Given the description of an element on the screen output the (x, y) to click on. 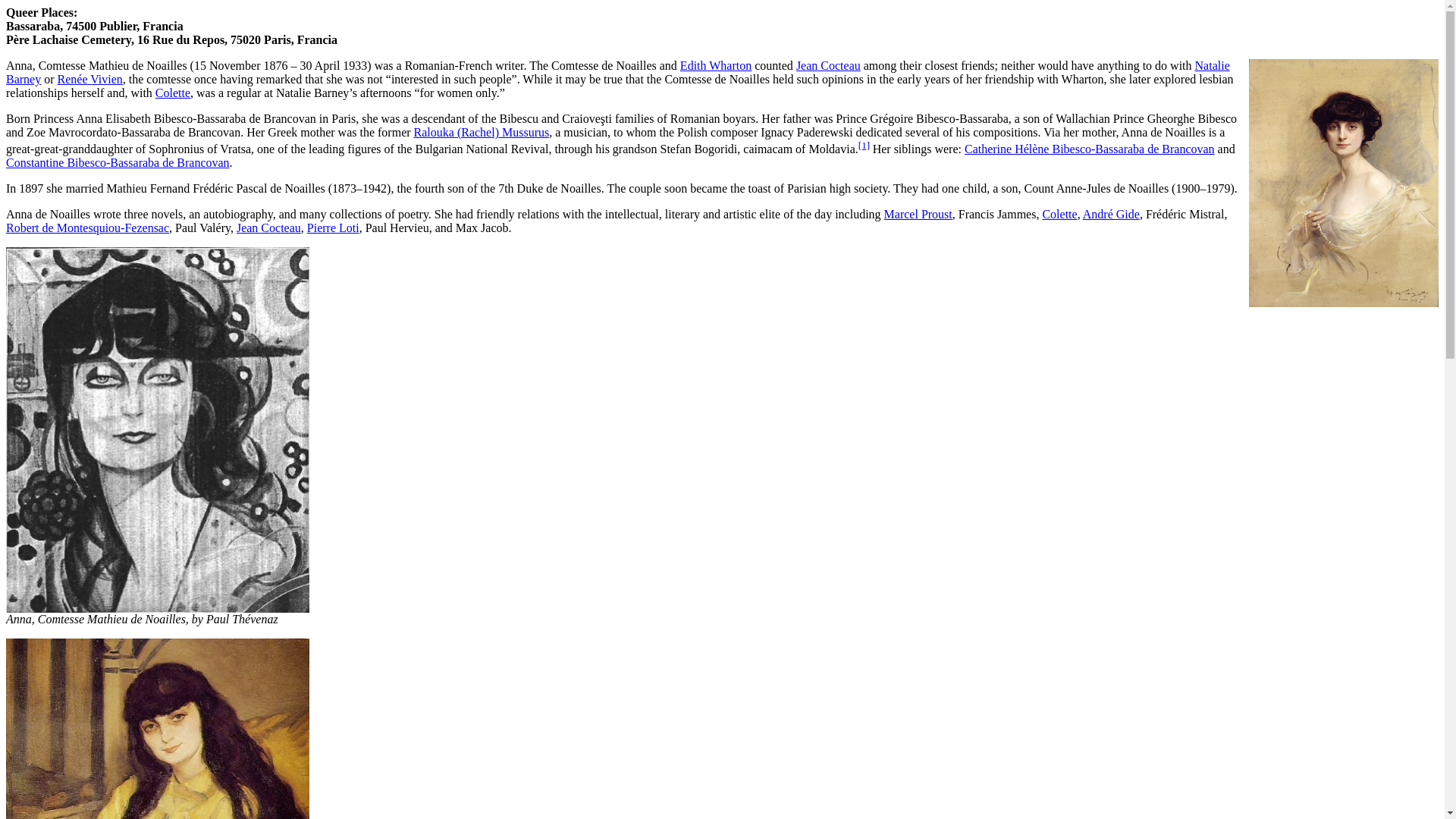
Colette (1059, 214)
Jean Cocteau (828, 65)
Jean Cocteau (268, 227)
Pierre Loti (333, 227)
Marcel Proust (917, 214)
Natalie Barney (617, 71)
Marcel Proust (917, 214)
Constantine Bibesco-Bassaraba de Brancovan (117, 162)
Robert de Montesquiou (86, 227)
Colette (172, 92)
Jean Cocteau (268, 227)
Edith Wharton (715, 65)
Colette (1059, 214)
Robert de Montesquiou-Fezensac (86, 227)
